Given the description of an element on the screen output the (x, y) to click on. 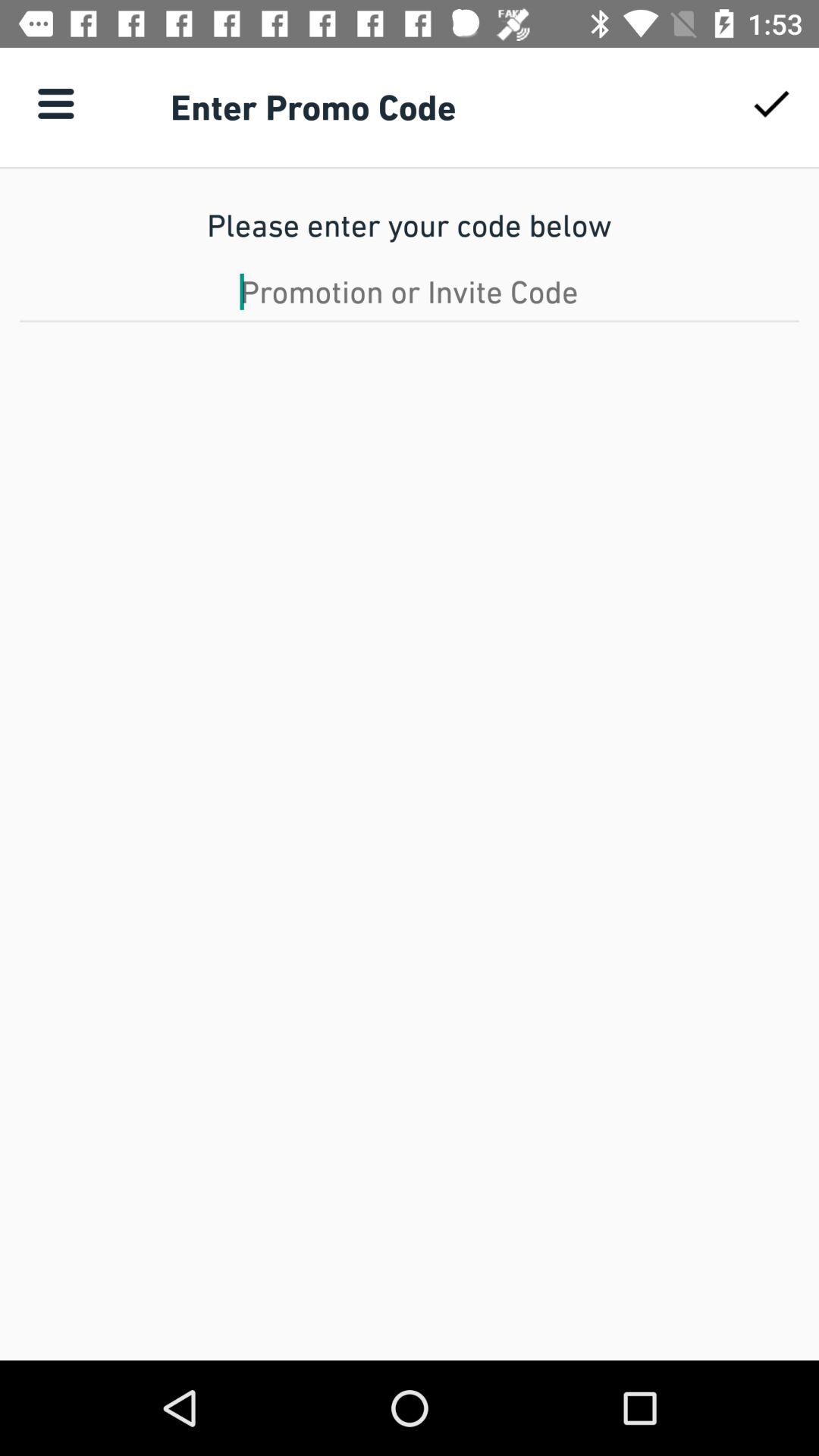
enter a code here for a discount (409, 291)
